Given the description of an element on the screen output the (x, y) to click on. 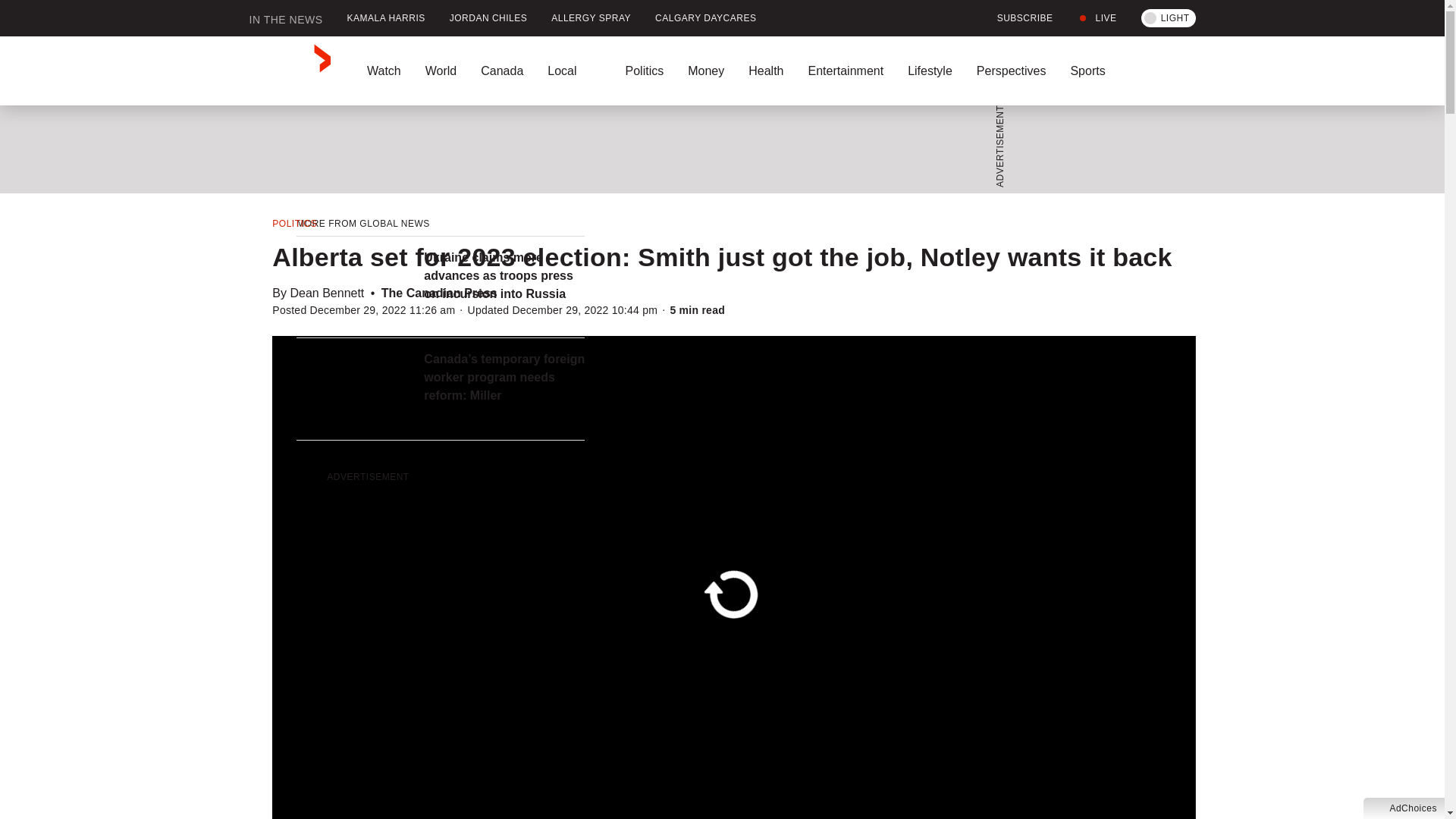
JORDAN CHILES (489, 18)
Politics (643, 70)
Canada (501, 70)
GlobalNews home (289, 70)
Lifestyle (929, 70)
KAMALA HARRIS (386, 18)
Local (573, 70)
ALLERGY SPRAY (590, 18)
Entertainment (844, 70)
